Given the description of an element on the screen output the (x, y) to click on. 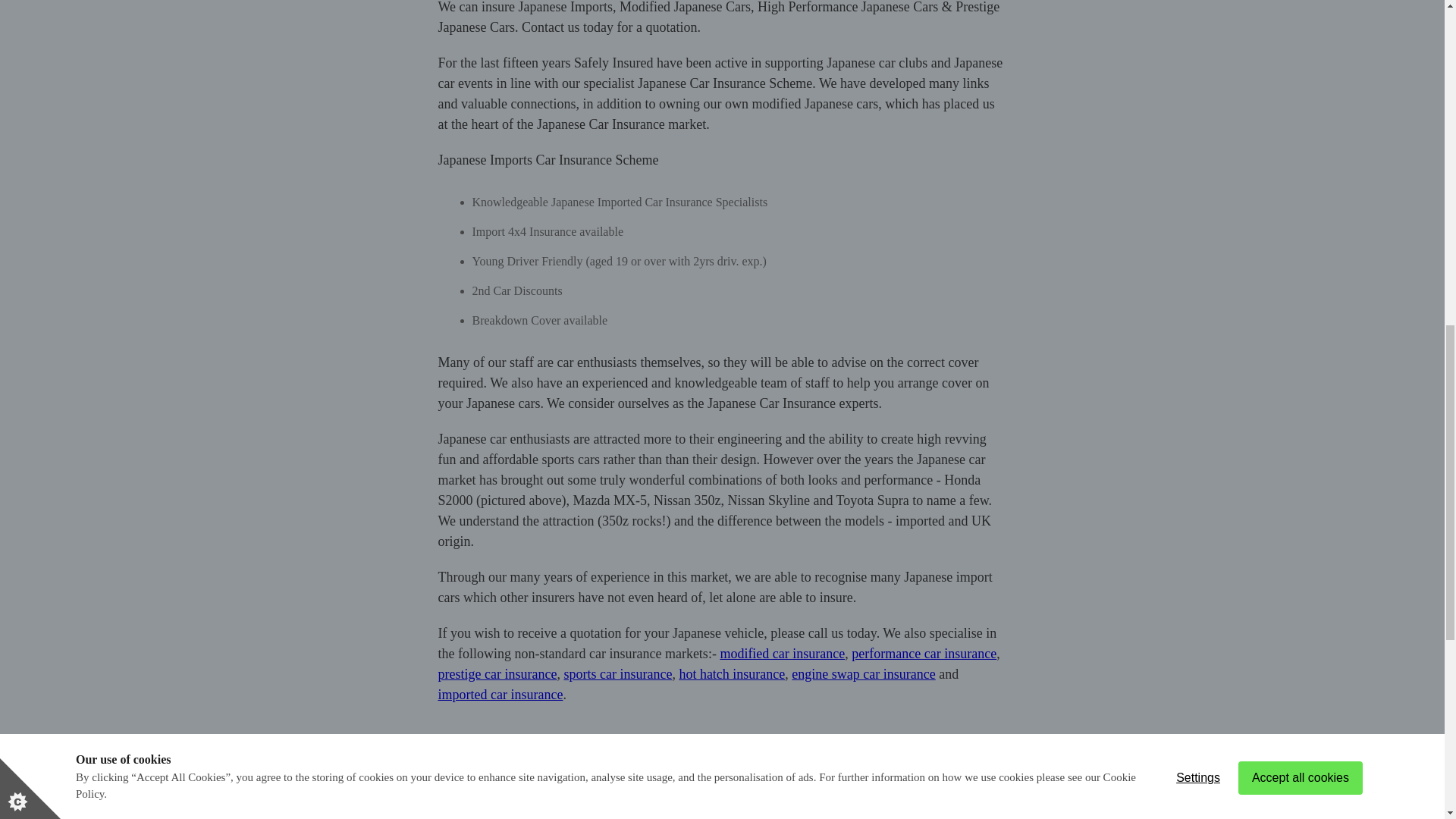
prestige car insurance (497, 673)
hot hatch insurance (731, 673)
sports car insurance (617, 673)
engine swap car insurance (863, 673)
imported car insurance (500, 694)
Accept all cookies (1300, 32)
performance car insurance (923, 653)
modified car insurance (781, 653)
Settings (1197, 17)
